Given the description of an element on the screen output the (x, y) to click on. 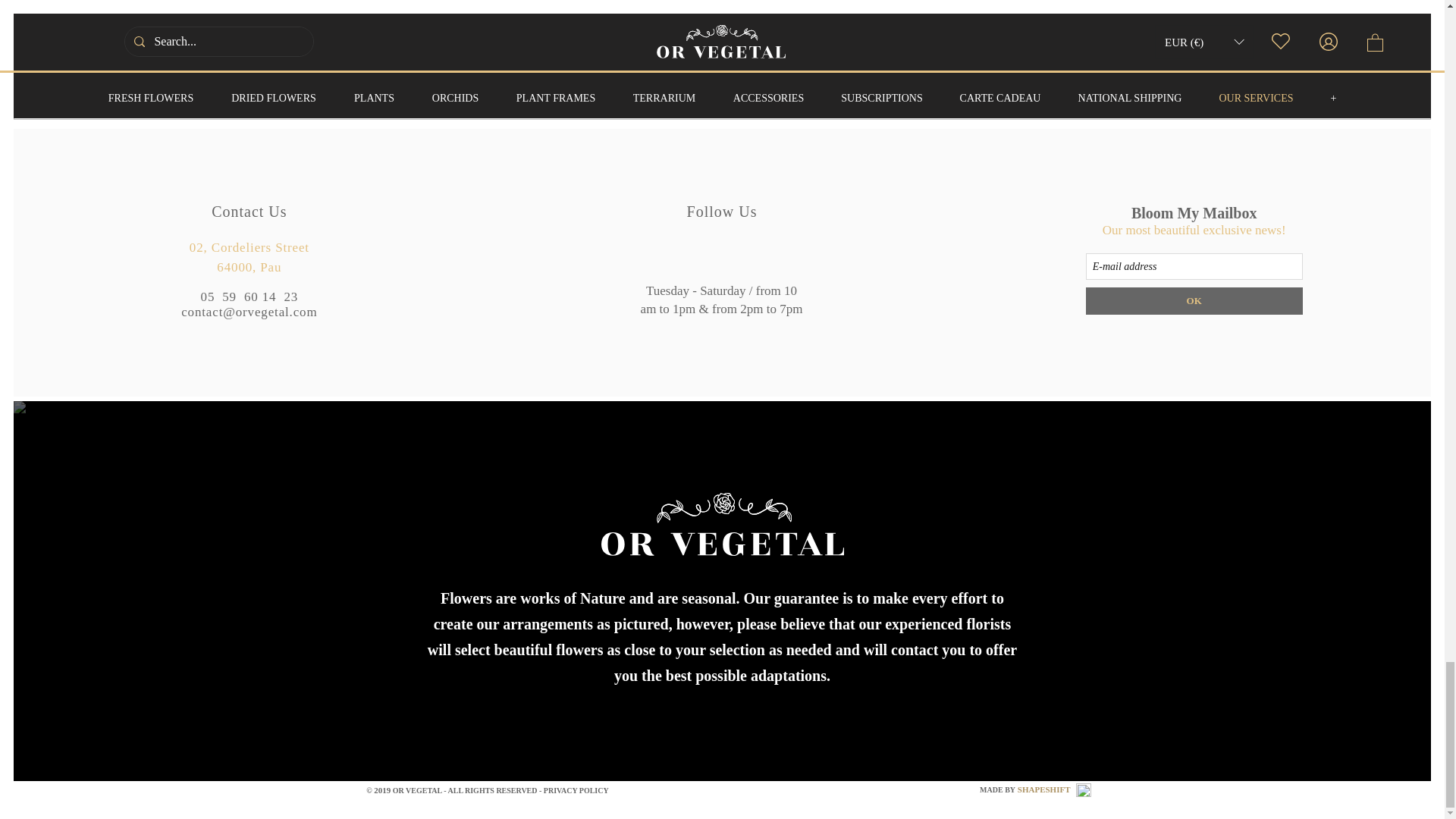
Website Made By Studio Shapeshift  (1082, 789)
